Given the description of an element on the screen output the (x, y) to click on. 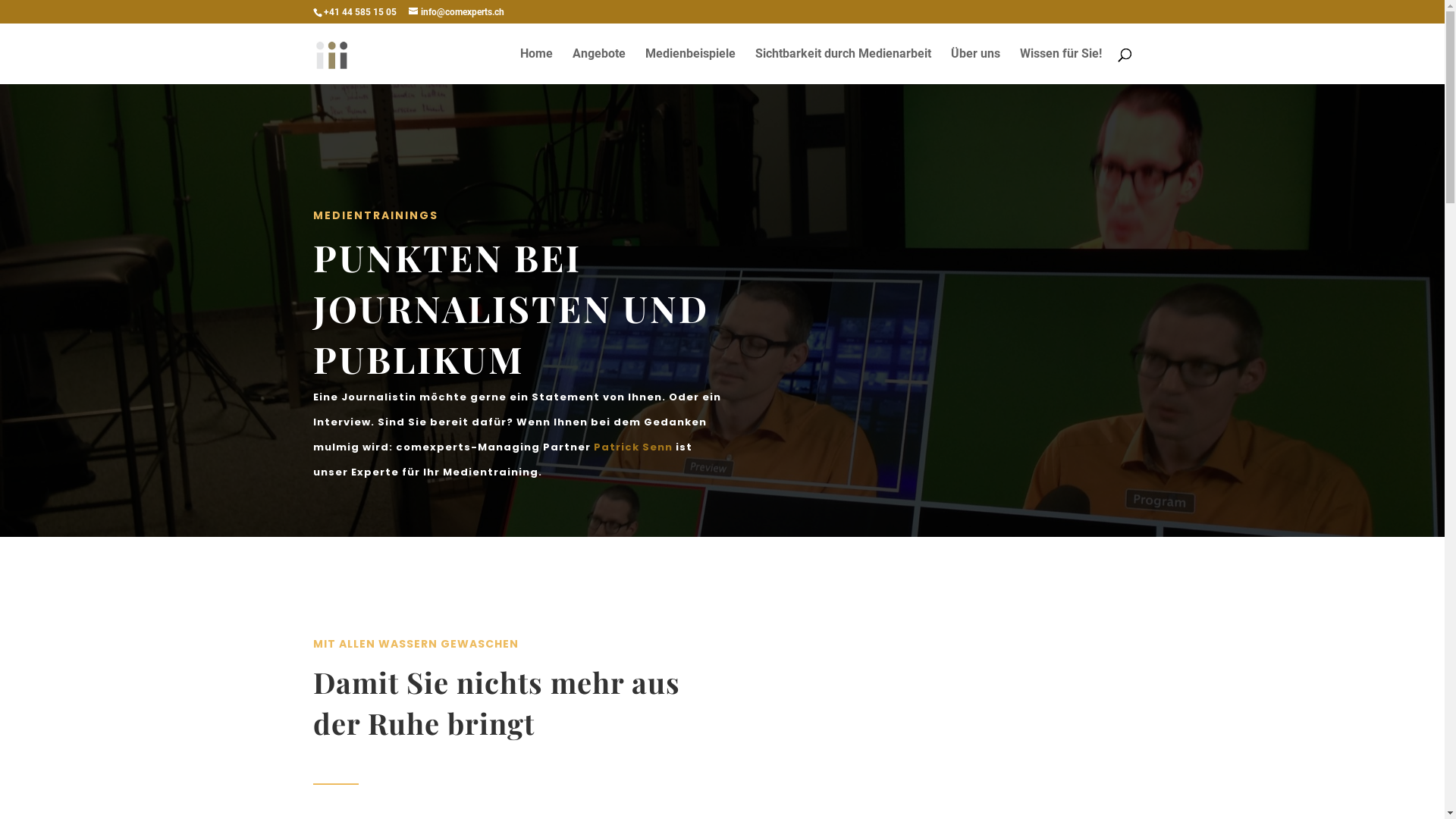
Patrick Senn Element type: text (632, 446)
Medienbeispiele Element type: text (689, 66)
info@comexperts.ch Element type: text (455, 11)
Home Element type: text (536, 66)
Sichtbarkeit durch Medienarbeit Element type: text (843, 66)
Angebote Element type: text (597, 66)
